Given the description of an element on the screen output the (x, y) to click on. 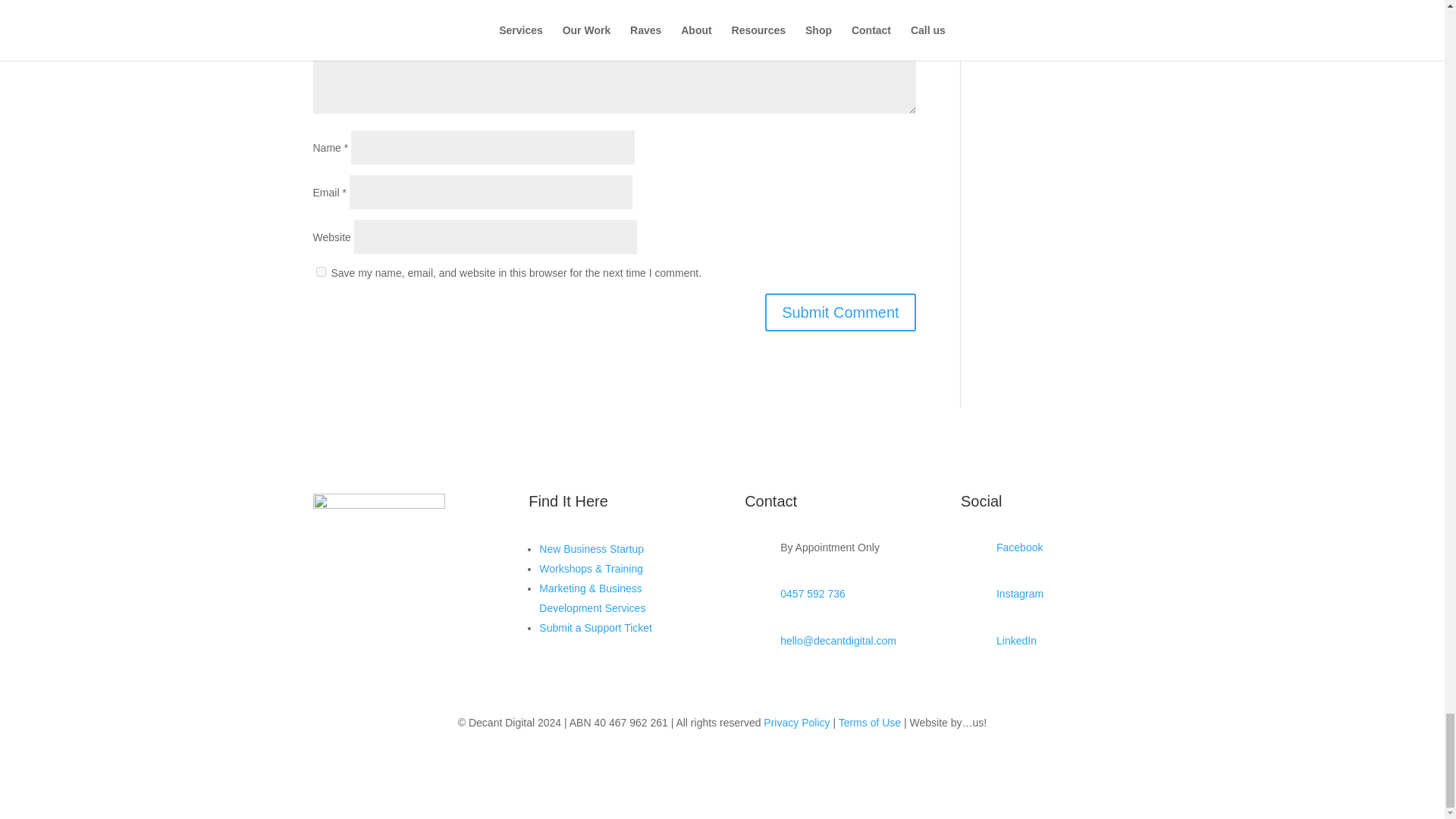
0457 592 736 (812, 593)
Terms of Use (869, 722)
Submit a Support Ticket (595, 627)
Privacy Policy (795, 722)
footer-logo (378, 528)
Submit Comment (840, 312)
yes (319, 271)
New Business Startup (590, 548)
LinkedIn (1015, 640)
Submit Comment (840, 312)
